Given the description of an element on the screen output the (x, y) to click on. 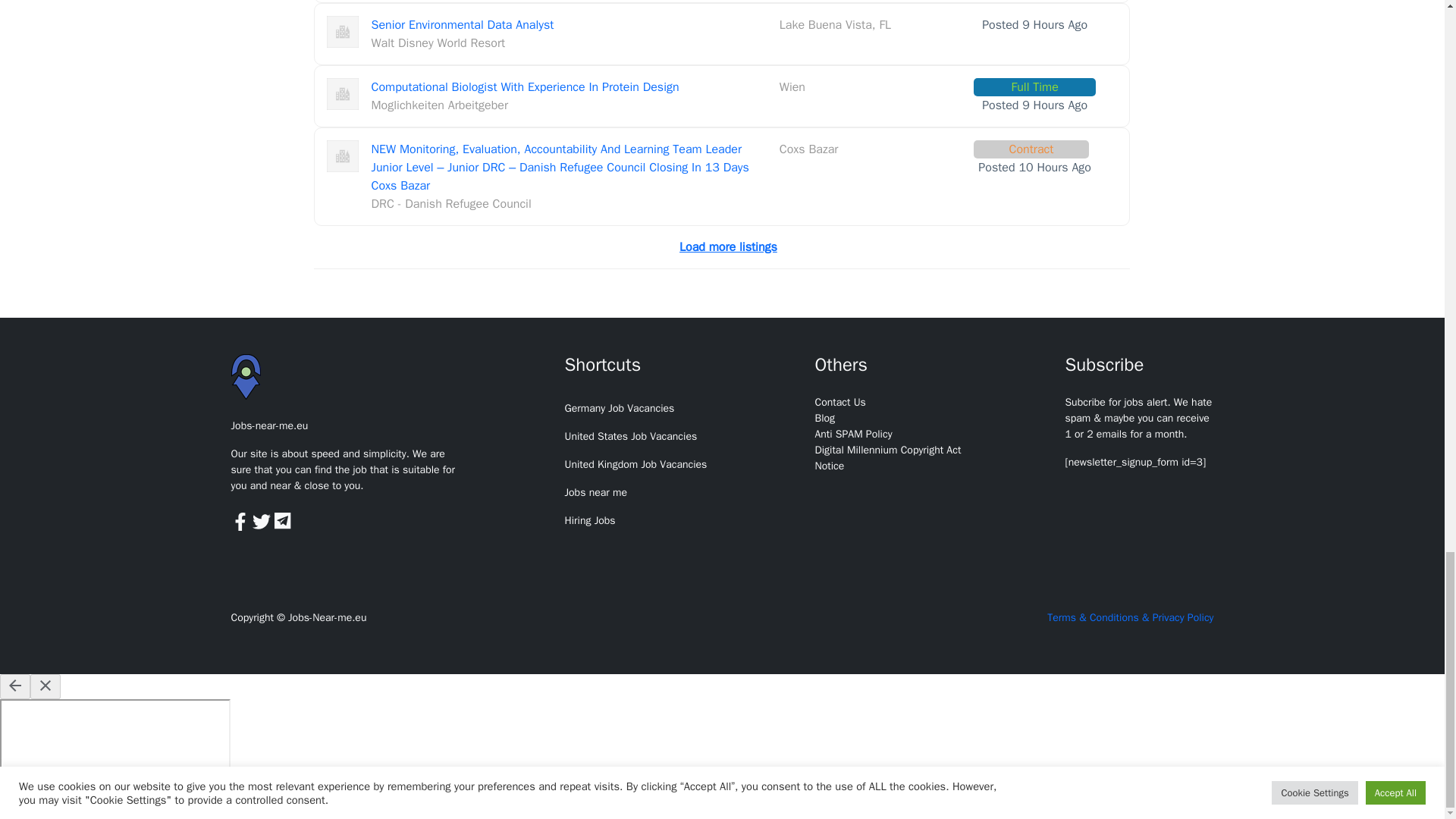
Twitter (263, 520)
Facebook (240, 520)
Telegram (283, 520)
